Given the description of an element on the screen output the (x, y) to click on. 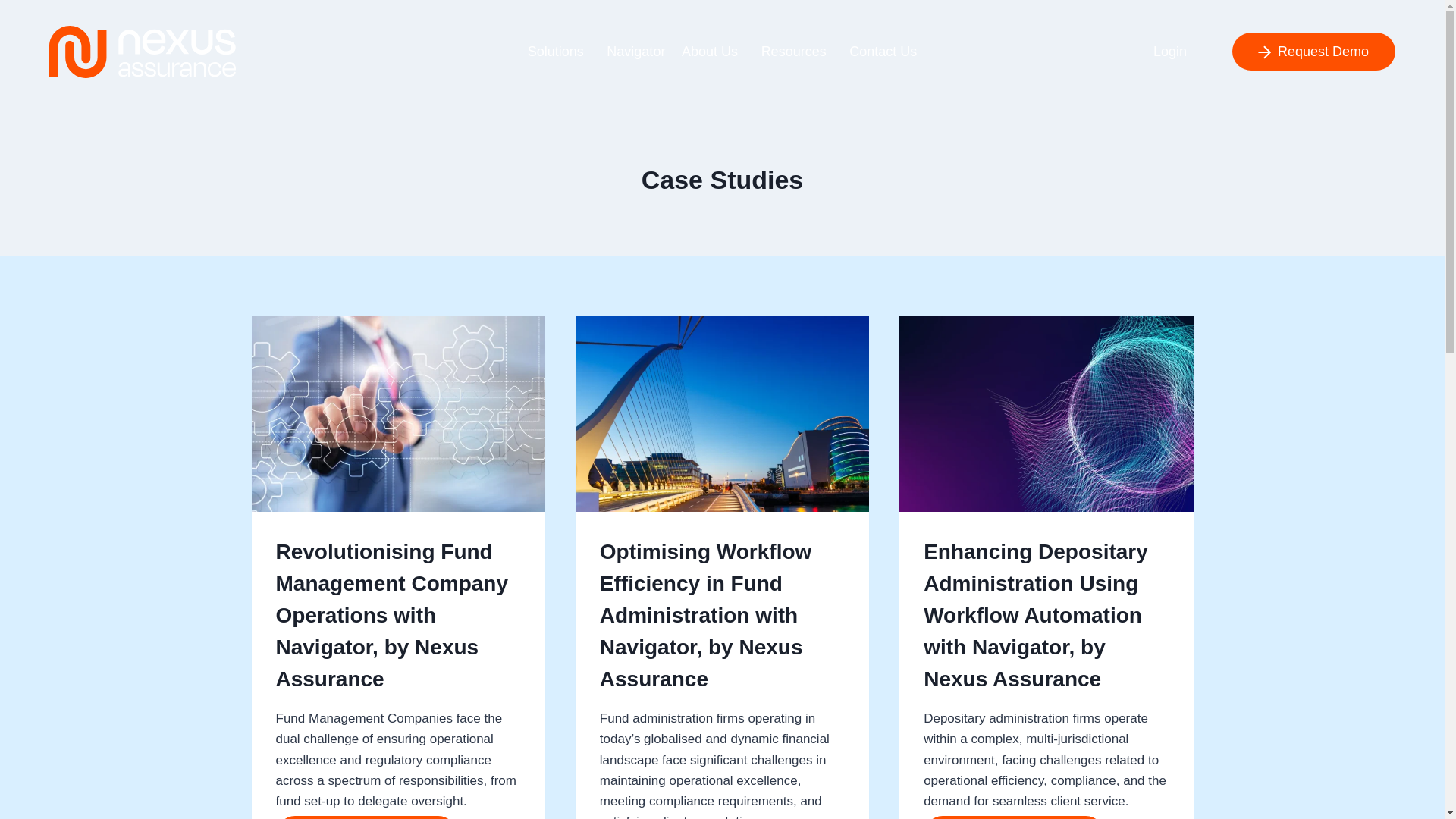
Request Demo (1312, 51)
Login (1169, 51)
Request Demo (845, 723)
